Given the description of an element on the screen output the (x, y) to click on. 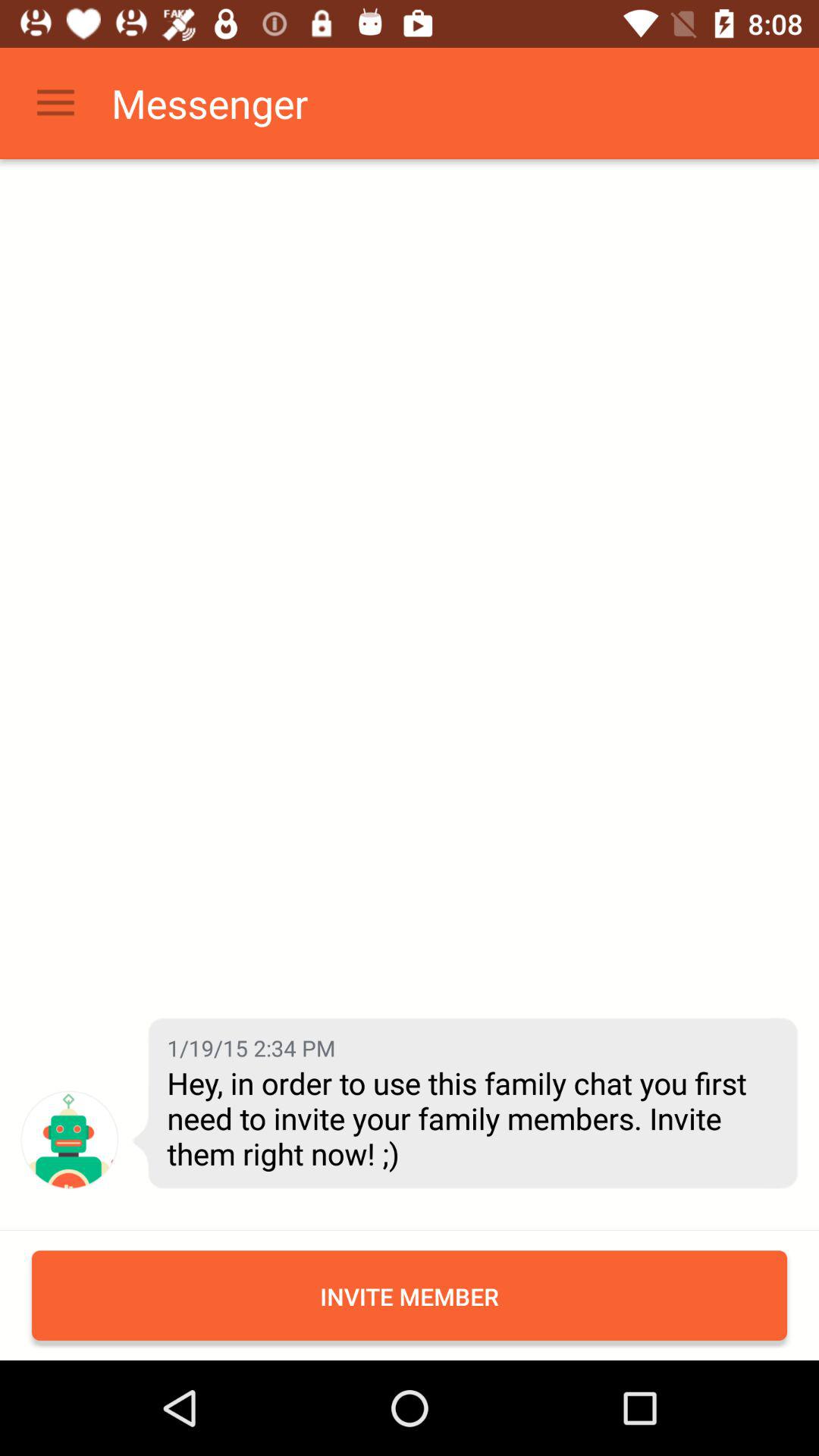
turn on the icon below 1 19 15 (471, 1117)
